Given the description of an element on the screen output the (x, y) to click on. 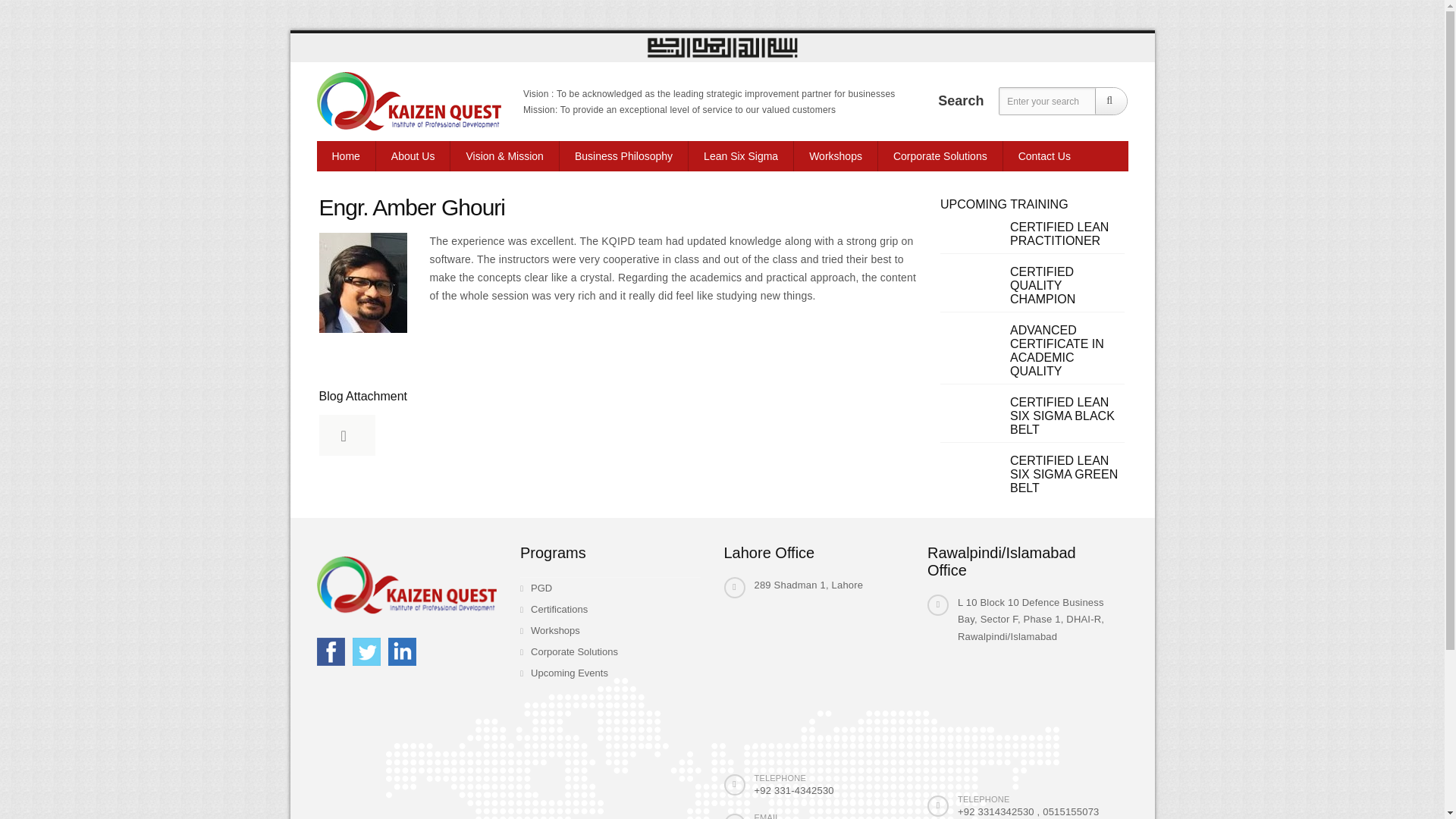
Home (346, 155)
CERTIFIED QUALITY CHAMPION (1042, 285)
Workshops (835, 155)
Lean Six Sigma (740, 155)
About Us (413, 155)
CERTIFIED LEAN PRACTITIONER (1059, 233)
Contact Us (1044, 155)
Corporate Solutions (940, 155)
CERTIFIED LEAN SIX SIGMA GREEN BELT (1064, 474)
Business Philosophy (623, 155)
ADVANCED CERTIFICATE IN ACADEMIC QUALITY (1056, 350)
CERTIFIED LEAN SIX SIGMA BLACK BELT (1062, 415)
